Given the description of an element on the screen output the (x, y) to click on. 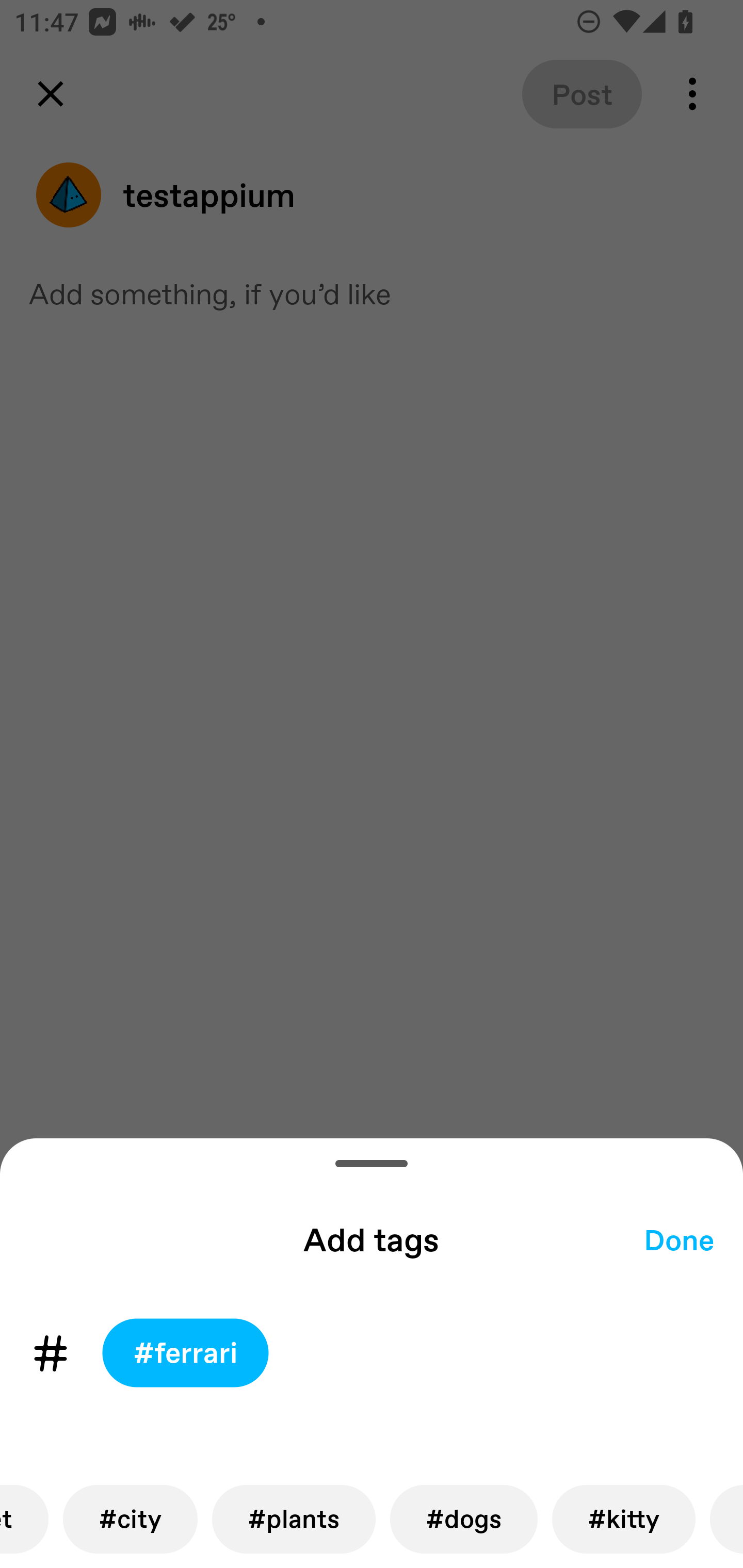
Done (679, 1239)
#ferrari (185, 1353)
#city (130, 1518)
#plants (293, 1518)
#dogs (463, 1518)
#kitty (623, 1518)
